Given the description of an element on the screen output the (x, y) to click on. 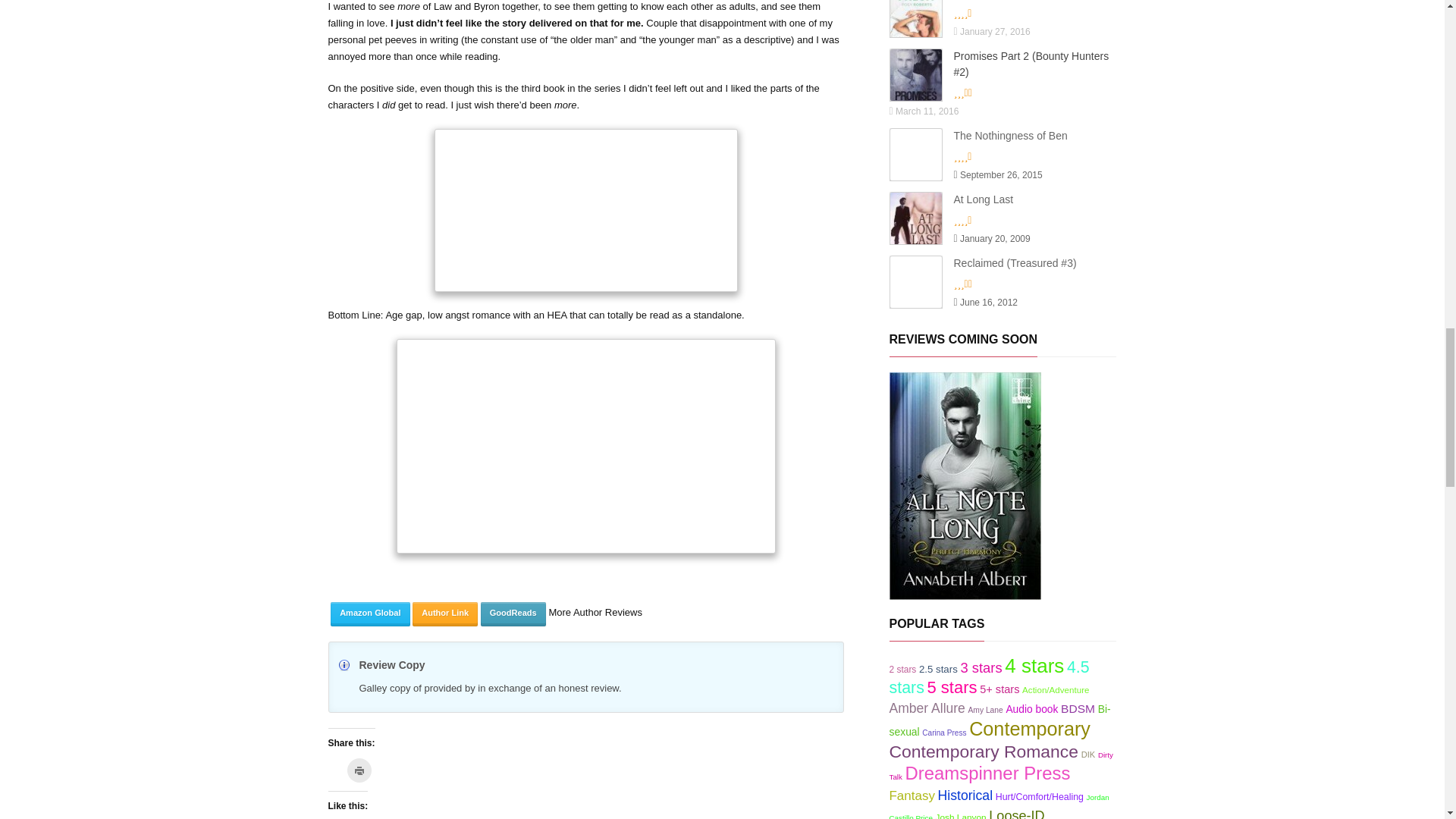
Click to print (359, 770)
4.00 (998, 13)
3.50 (998, 93)
